Given the description of an element on the screen output the (x, y) to click on. 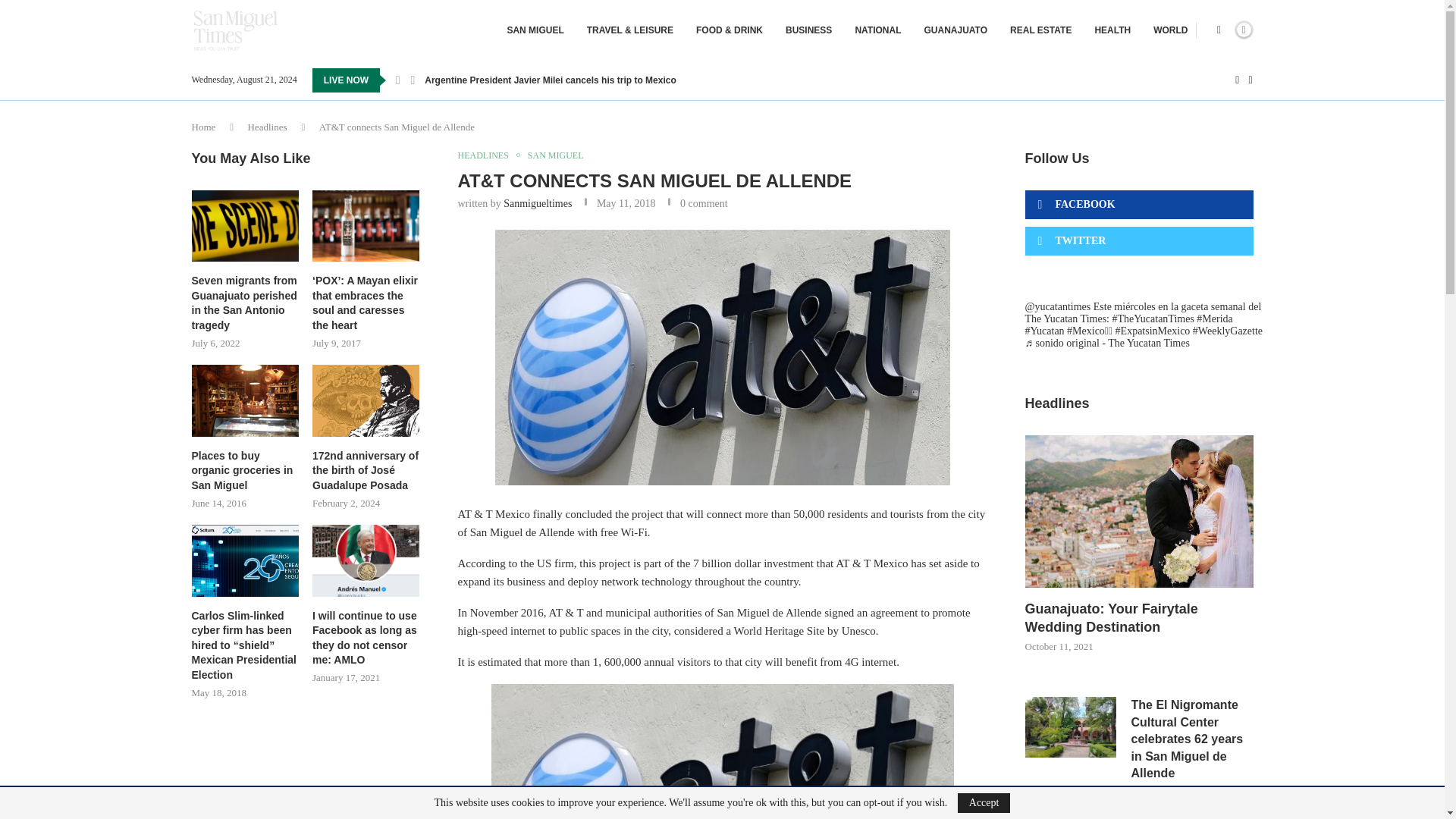
SAN MIGUEL (534, 30)
BUSINESS (808, 30)
REAL ESTATE (1040, 30)
GUANAJUATO (955, 30)
atxt (722, 357)
NATIONAL (877, 30)
Argentine President Javier Milei cancels his trip to Mexico (550, 79)
